Given the description of an element on the screen output the (x, y) to click on. 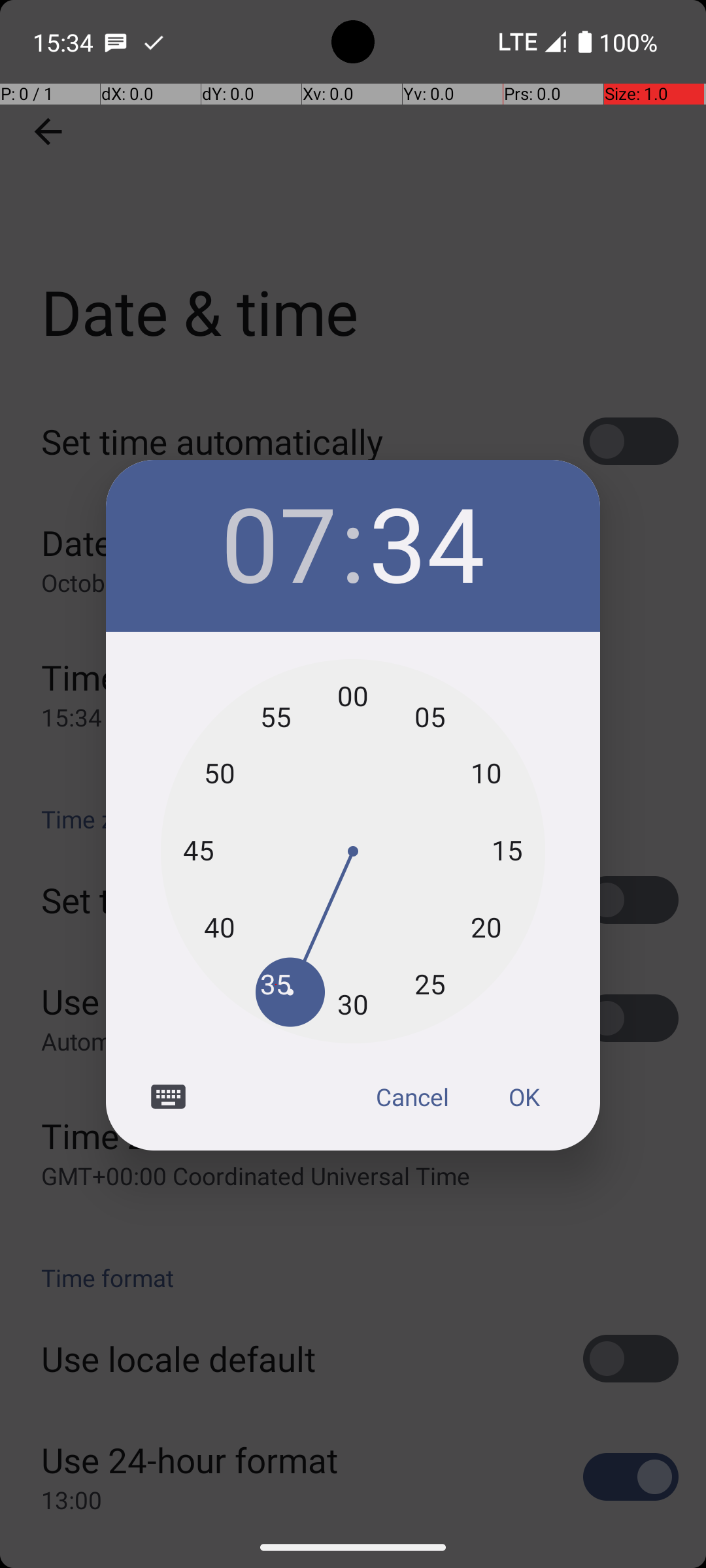
07 Element type: android.widget.TextView (278, 541)
SMS Messenger notification: Daniel Ali Element type: android.widget.ImageView (115, 41)
